Given the description of an element on the screen output the (x, y) to click on. 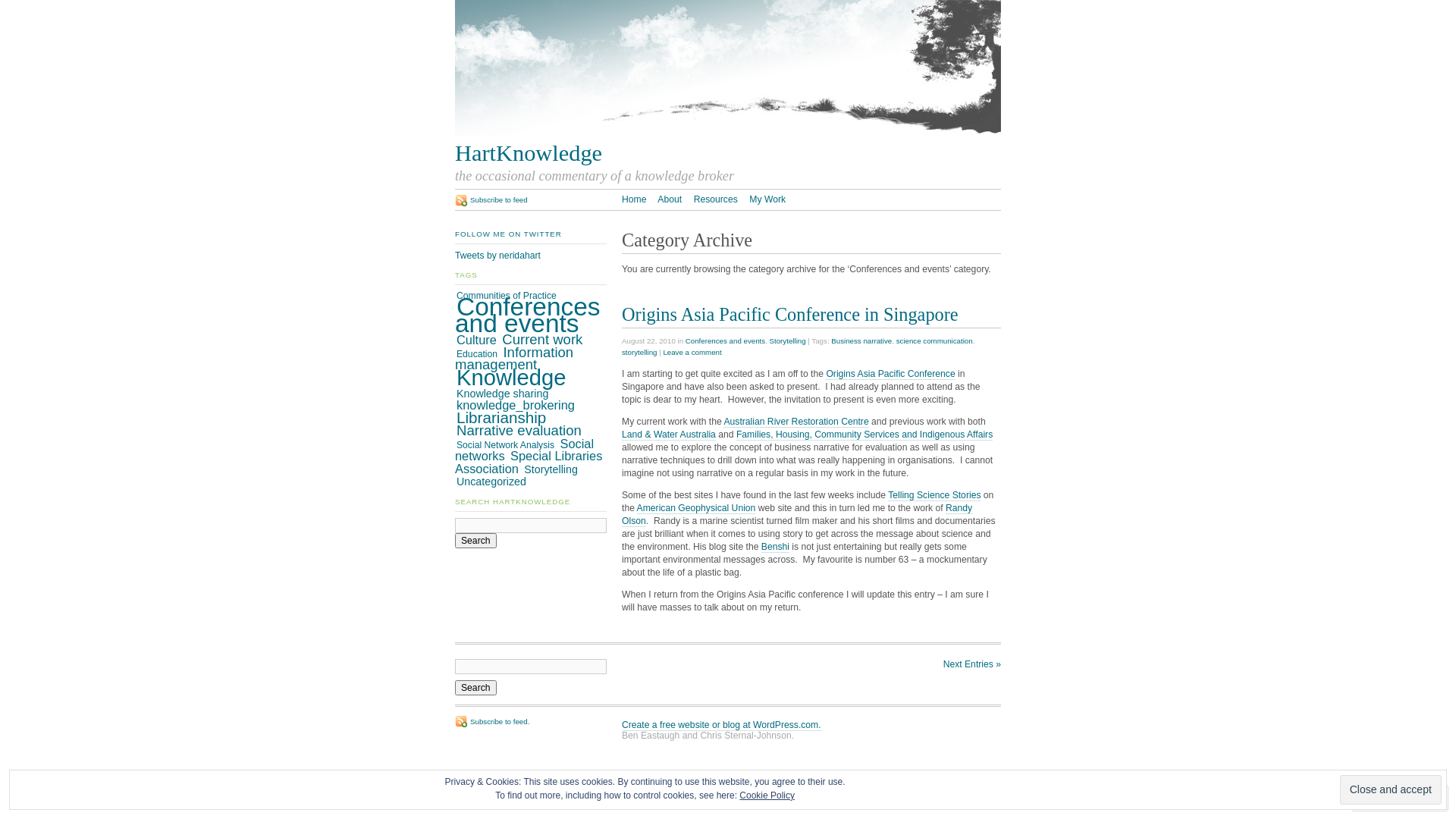
Information management Element type: text (514, 358)
Search Element type: text (475, 540)
HartKnowledge Element type: text (728, 152)
Business narrative Element type: text (861, 340)
Storytelling Element type: text (787, 340)
Land & Water Australia Element type: text (668, 434)
Follow Element type: text (1385, 797)
Storytelling Element type: text (550, 469)
Origins Asia Pacific Conference Element type: text (889, 373)
Cookie Policy Element type: text (766, 795)
Subscribe to feed Element type: text (491, 199)
Narrative evaluation Element type: text (518, 430)
FOLLOW ME ON TWITTER Element type: text (508, 233)
Randy Olson Element type: text (796, 514)
Conferences and events Element type: text (725, 340)
Social networks Element type: text (524, 450)
About Element type: text (669, 199)
Benshi Element type: text (775, 546)
Knowledge Element type: text (510, 377)
Leave a comment Element type: text (691, 352)
Knowledge sharing Element type: text (502, 393)
American Geophysical Union Element type: text (696, 508)
My Work Element type: text (767, 199)
Subscribe to feed. Element type: text (492, 721)
Telling Science Stories Element type: text (934, 495)
Current work Element type: text (542, 339)
Special Libraries Association Element type: text (528, 462)
Education Element type: text (476, 354)
Australian River Restoration Centre Element type: text (795, 421)
Home Element type: text (633, 199)
Social Network Analysis Element type: text (505, 445)
Tweets by neridahart Element type: text (497, 255)
storytelling Element type: text (638, 352)
Communities of Practice Element type: text (506, 295)
Origins Asia Pacific Conference in Singapore Element type: text (789, 314)
Families, Housing, Community Services and Indigenous Affairs Element type: text (864, 434)
Create a free website or blog at WordPress.com. Element type: text (721, 725)
knowledge_brokering Element type: text (515, 404)
Librarianship Element type: text (500, 416)
Search Element type: text (475, 687)
Uncategorized Element type: text (491, 481)
Return to front page Element type: hover (728, 133)
Conferences and events Element type: text (527, 314)
Culture Element type: text (476, 339)
Close and accept Element type: text (1390, 789)
Resources Element type: text (715, 199)
science communication Element type: text (934, 340)
